Given the description of an element on the screen output the (x, y) to click on. 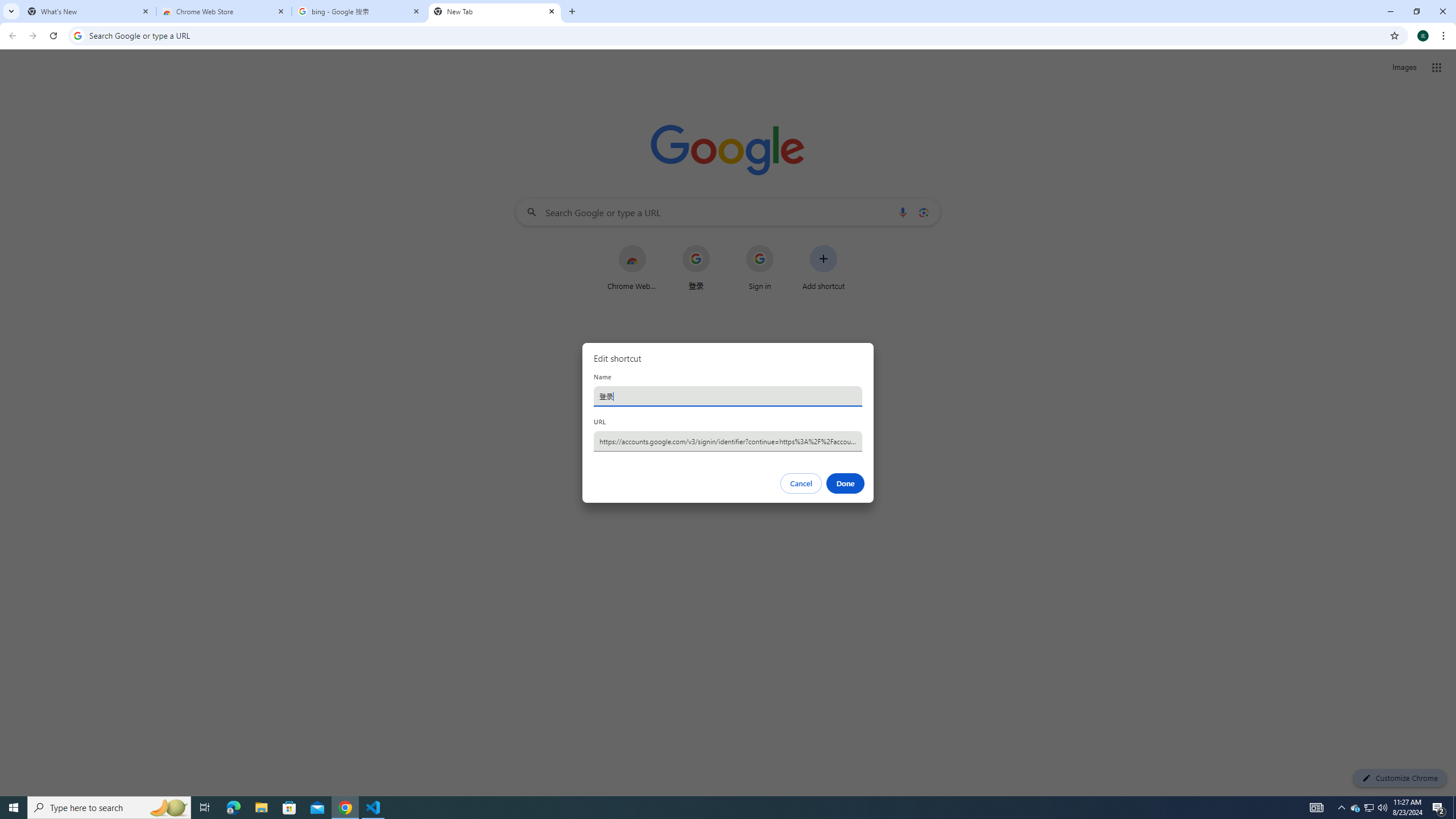
Cancel (801, 483)
What's New (88, 11)
